Given the description of an element on the screen output the (x, y) to click on. 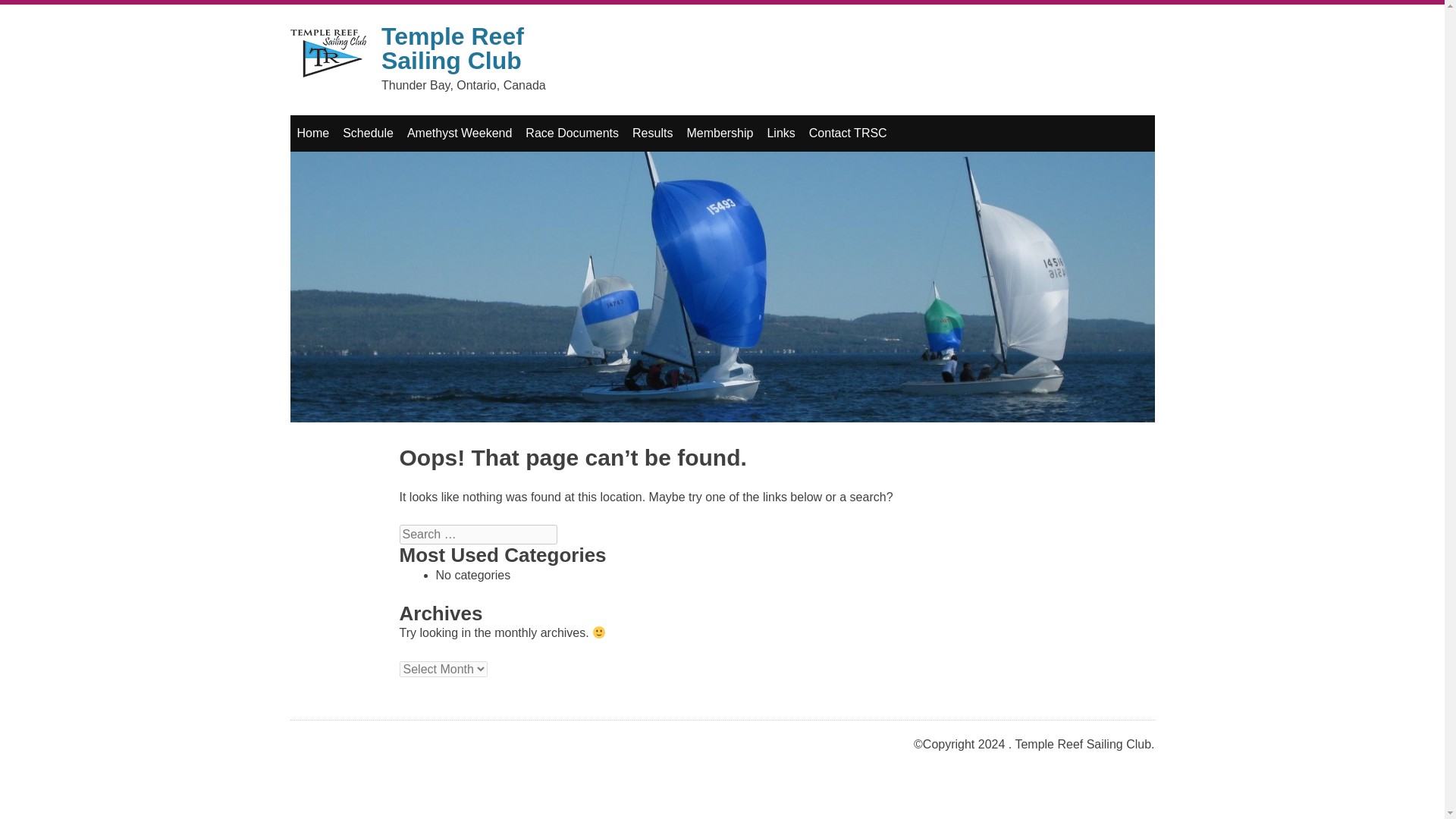
Race Documents (572, 133)
Membership (719, 133)
Results (652, 133)
Temple Reef Sailing Club (327, 56)
Temple Reef Sailing Club (452, 48)
Amethyst Weekend (459, 133)
Links (781, 133)
Skip to content (336, 133)
Schedule (368, 133)
